Given the description of an element on the screen output the (x, y) to click on. 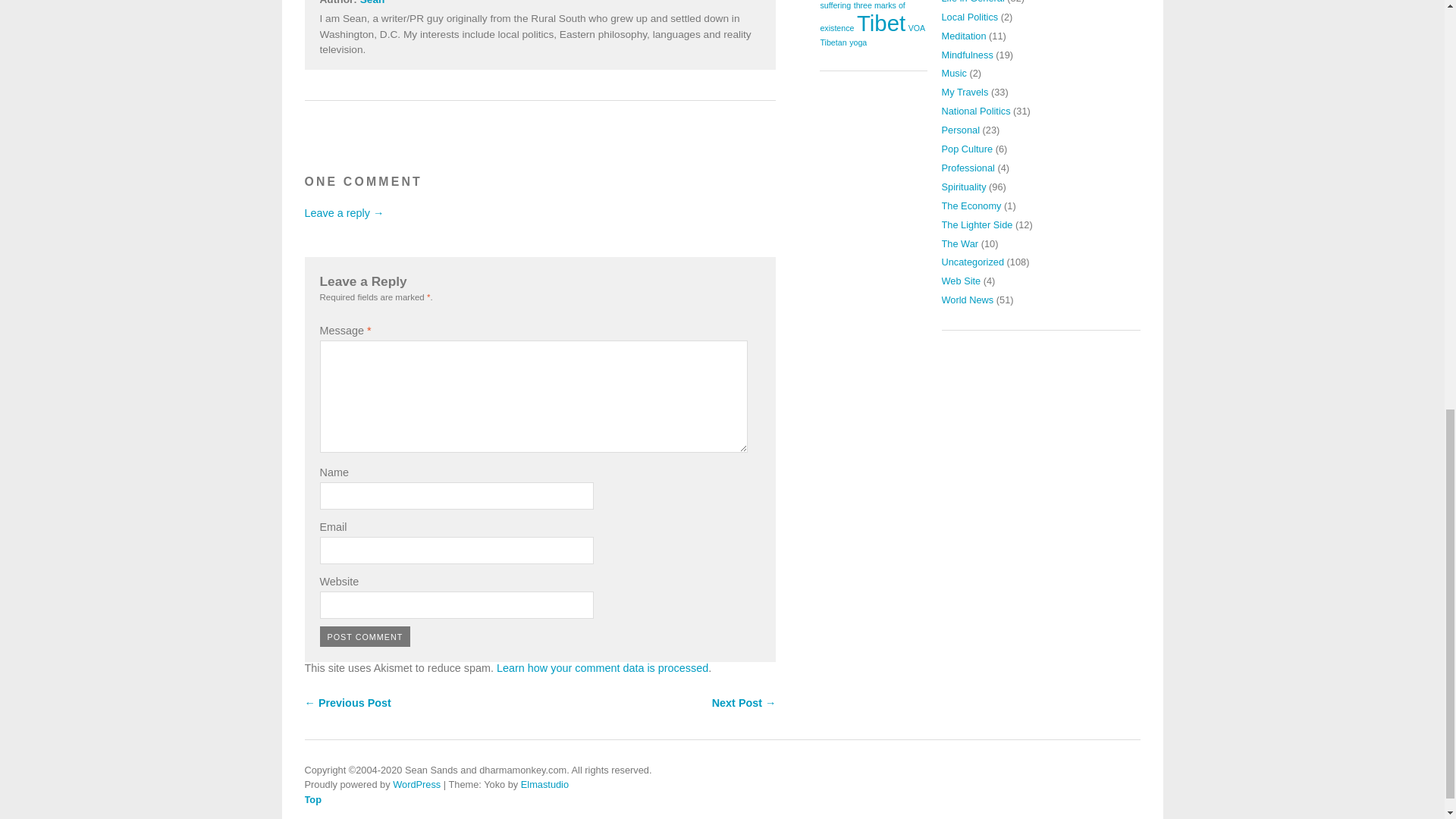
Learn how your comment data is processed (601, 667)
Sean (372, 2)
Post Comment (365, 636)
Sean (372, 2)
Post Comment (365, 636)
